Given the description of an element on the screen output the (x, y) to click on. 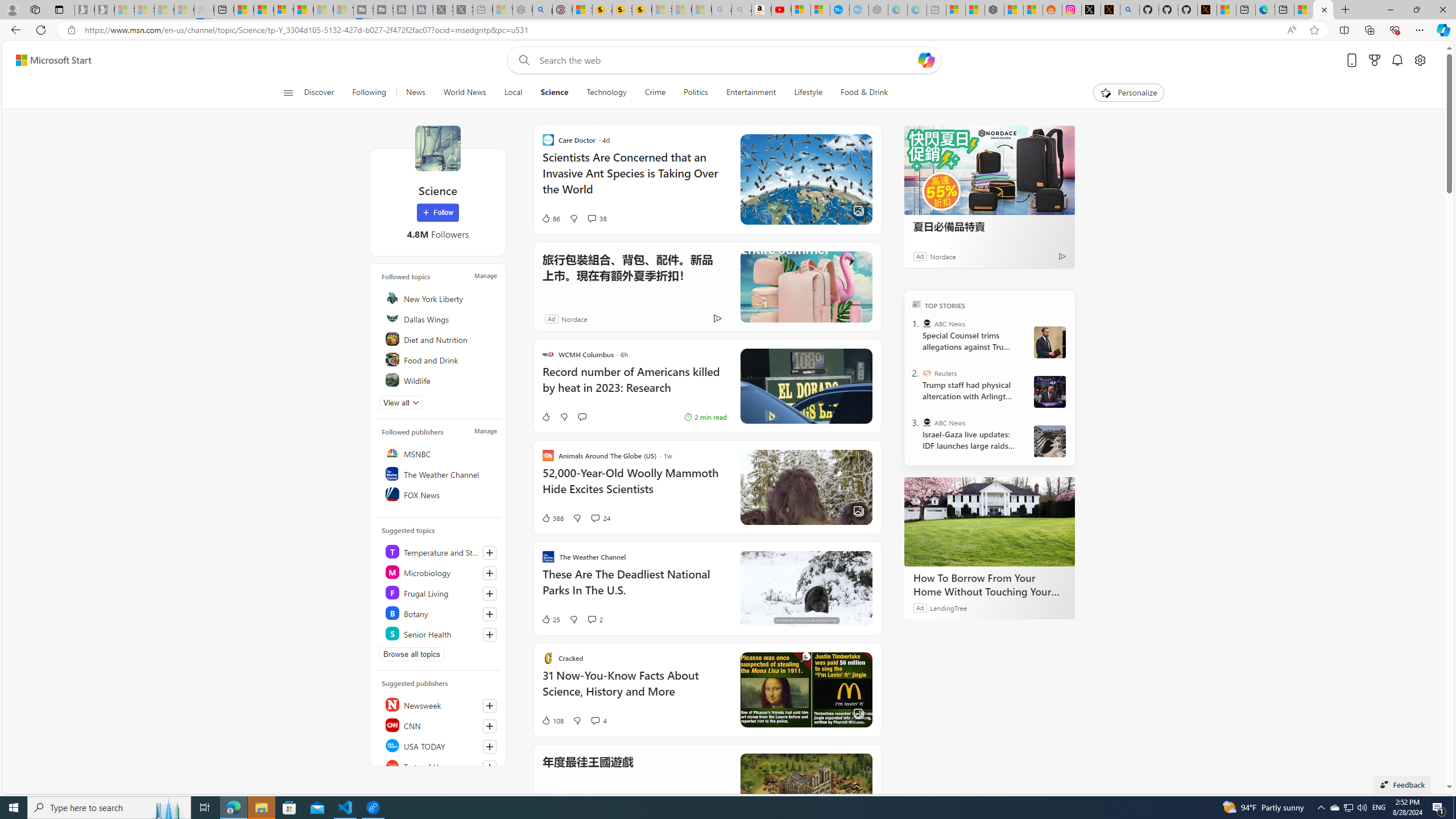
Food & Drink (859, 92)
View comments 4 Comment (594, 719)
Web search (520, 60)
Technology (606, 92)
25 Like (549, 619)
Science (437, 148)
Day 1: Arriving in Yemen (surreal to be here) - YouTube (781, 9)
Diet and Nutrition (439, 339)
Overview (283, 9)
